Given the description of an element on the screen output the (x, y) to click on. 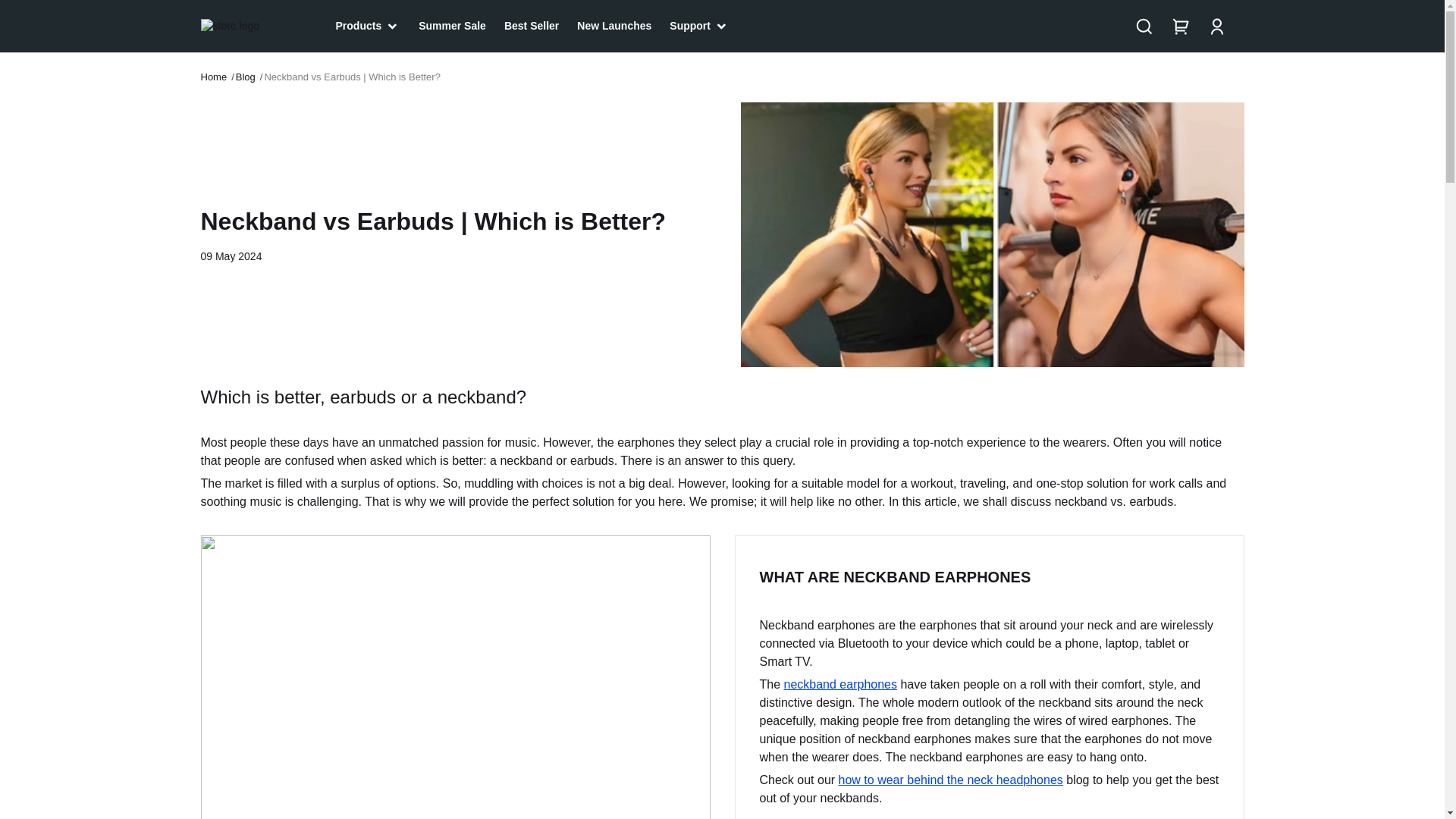
Best Seller (531, 26)
Support (699, 26)
Summer Sale (452, 26)
Products (367, 26)
New Launches (613, 26)
